Given the description of an element on the screen output the (x, y) to click on. 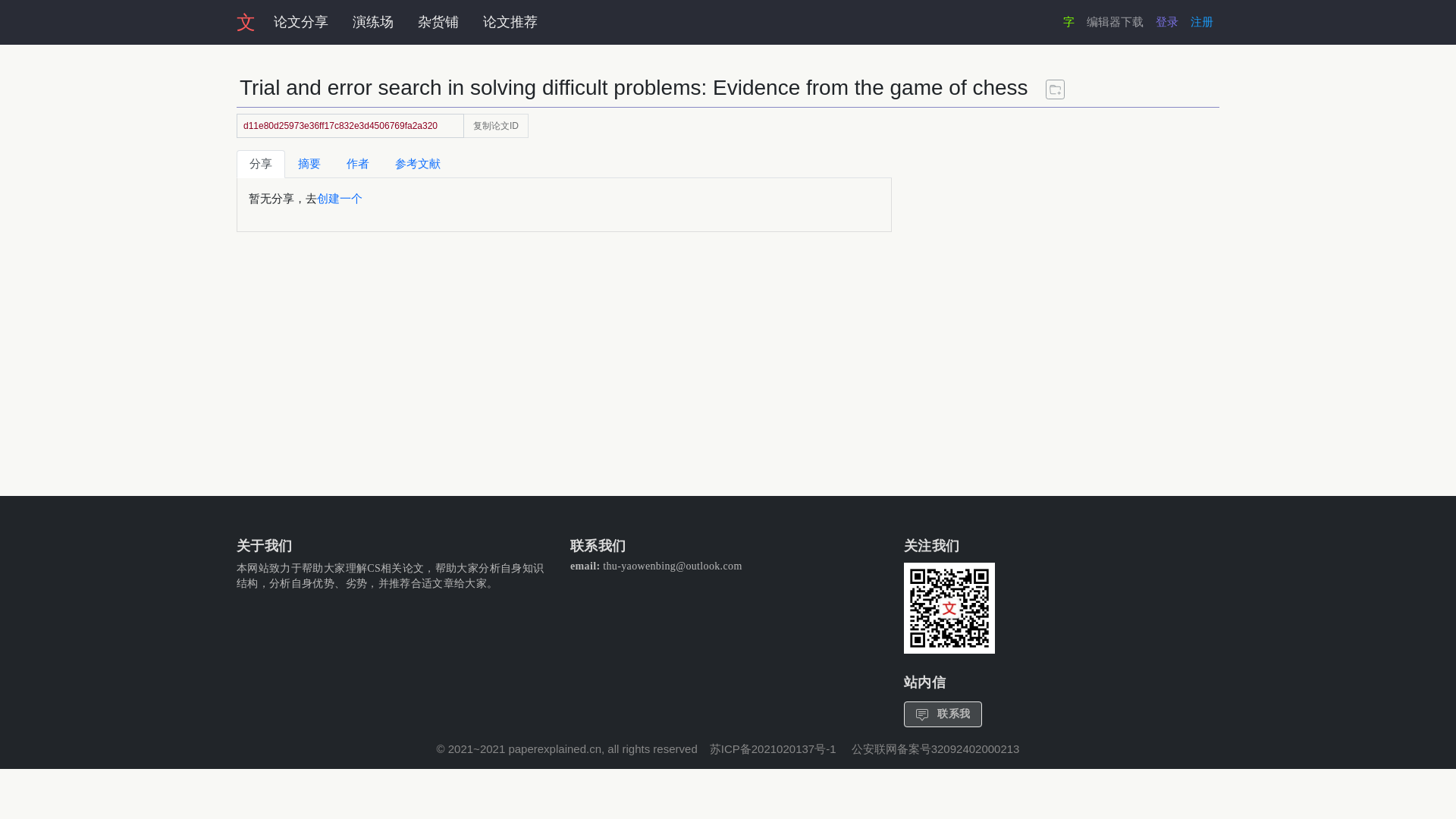
d11e80d25973e36ff17c832e3d4506769fa2a320 (349, 125)
